Given the description of an element on the screen output the (x, y) to click on. 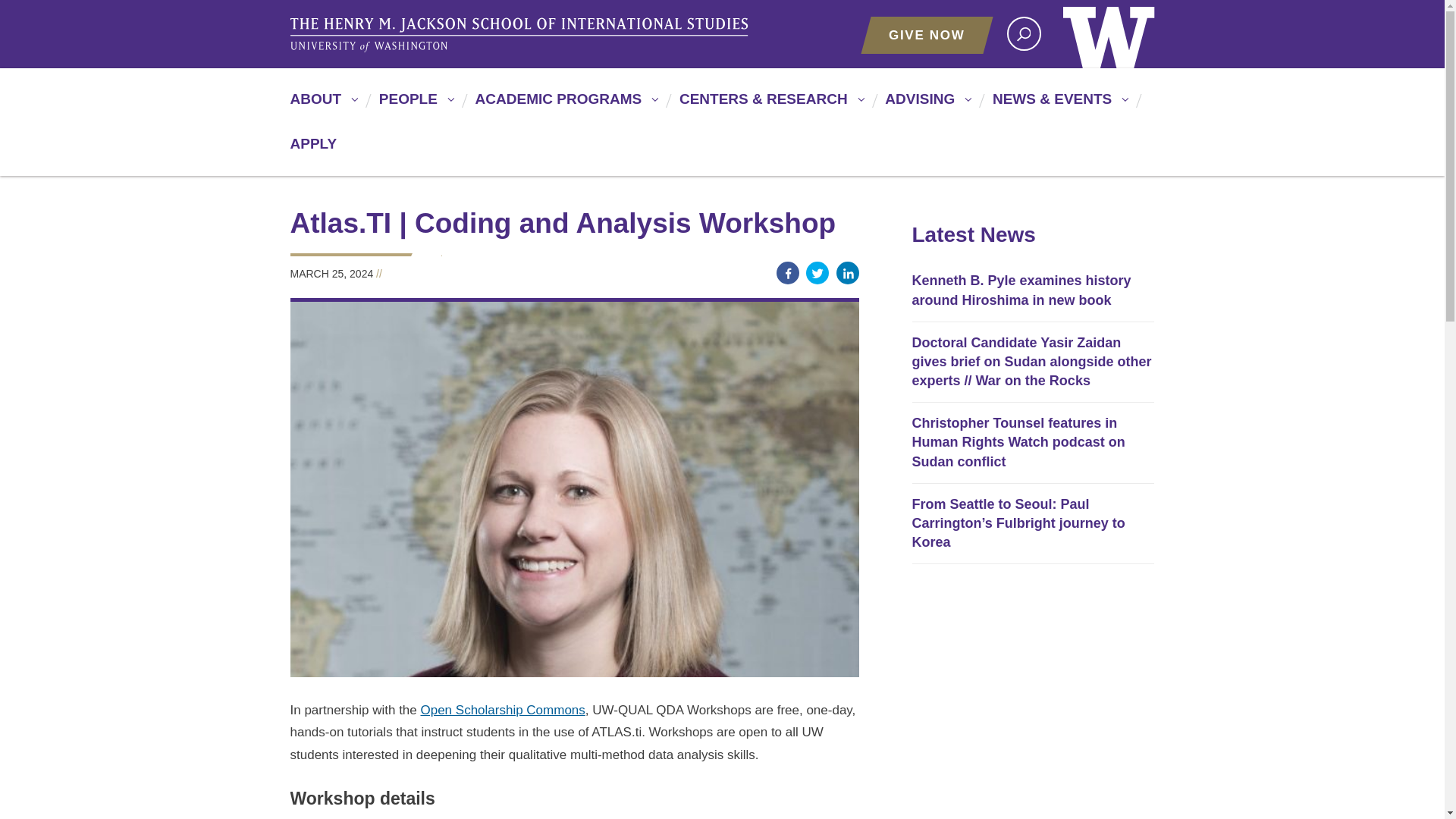
Advising (924, 105)
University of Washington Home (1108, 33)
GIVE NOW (927, 35)
ADVISING (924, 105)
Academic Programs (564, 105)
About (322, 105)
University of Washington (1108, 33)
APPLY (312, 149)
PEOPLE (414, 105)
ACADEMIC PROGRAMS (564, 105)
People (414, 105)
ABOUT (322, 105)
The Henry M. Jackson School of International Studies Home (520, 35)
